Given the description of an element on the screen output the (x, y) to click on. 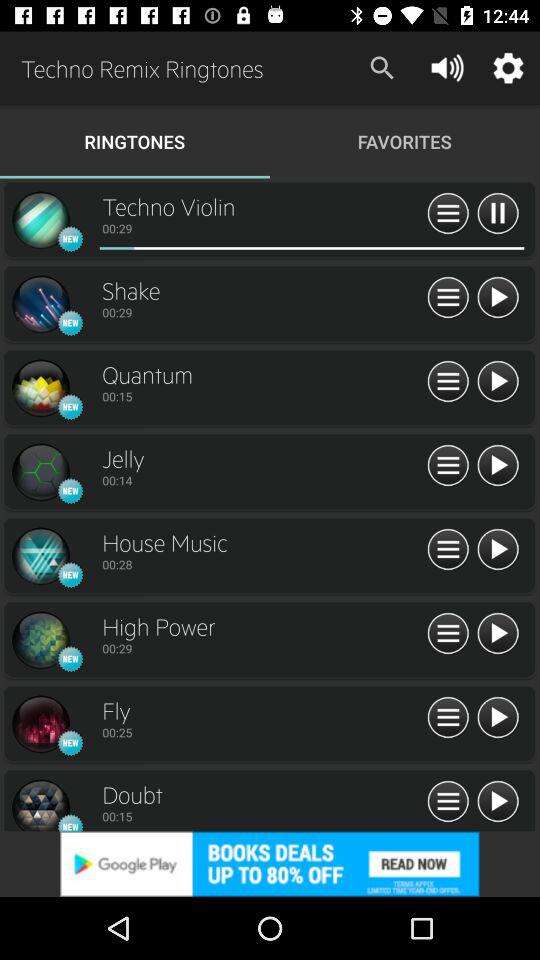
plays the ringtone (497, 381)
